Given the description of an element on the screen output the (x, y) to click on. 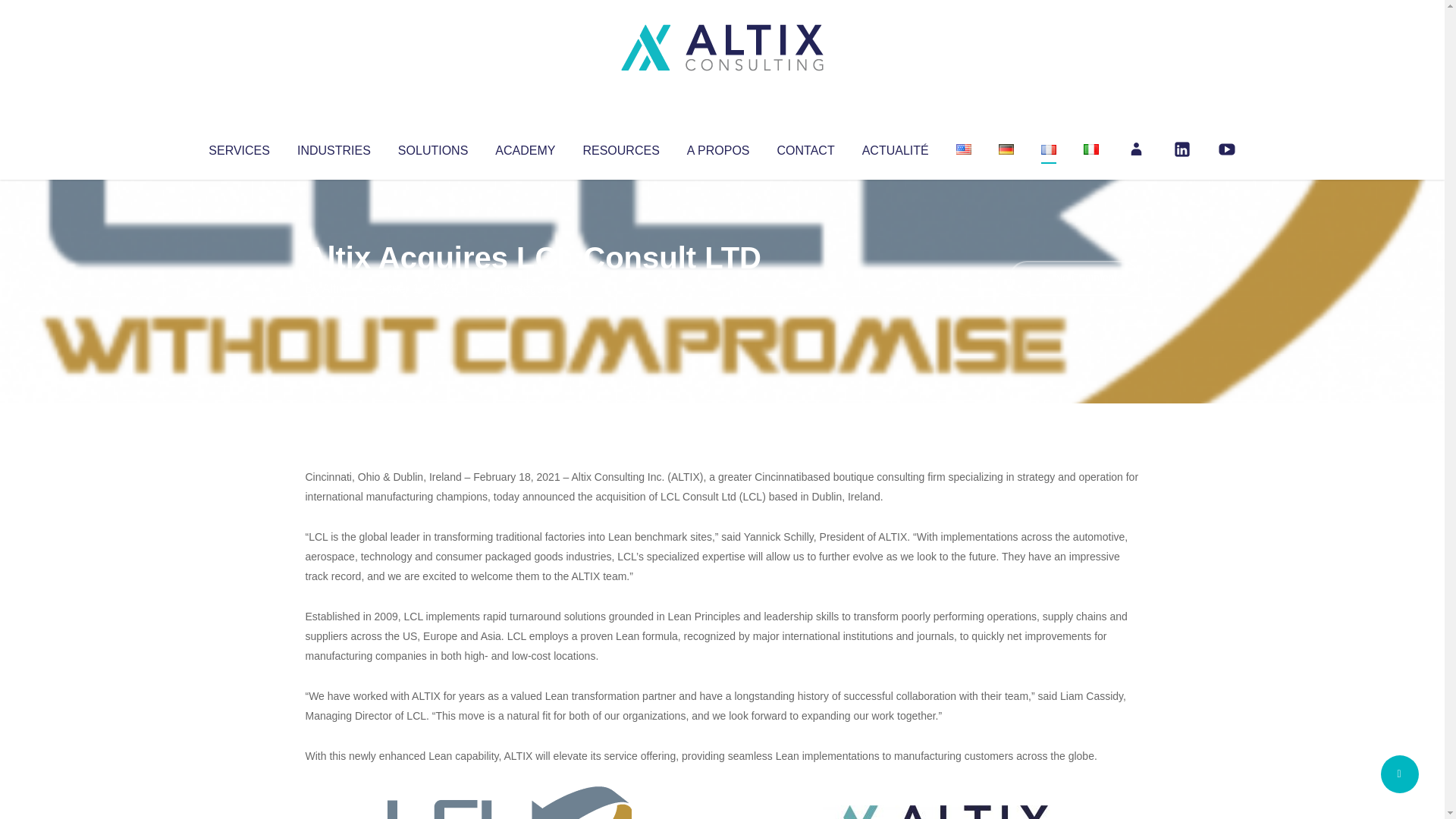
INDUSTRIES (334, 146)
Altix (333, 287)
SERVICES (238, 146)
A PROPOS (718, 146)
No Comments (1073, 278)
RESOURCES (620, 146)
Uncategorized (530, 287)
ACADEMY (524, 146)
SOLUTIONS (432, 146)
Articles par Altix (333, 287)
